Given the description of an element on the screen output the (x, y) to click on. 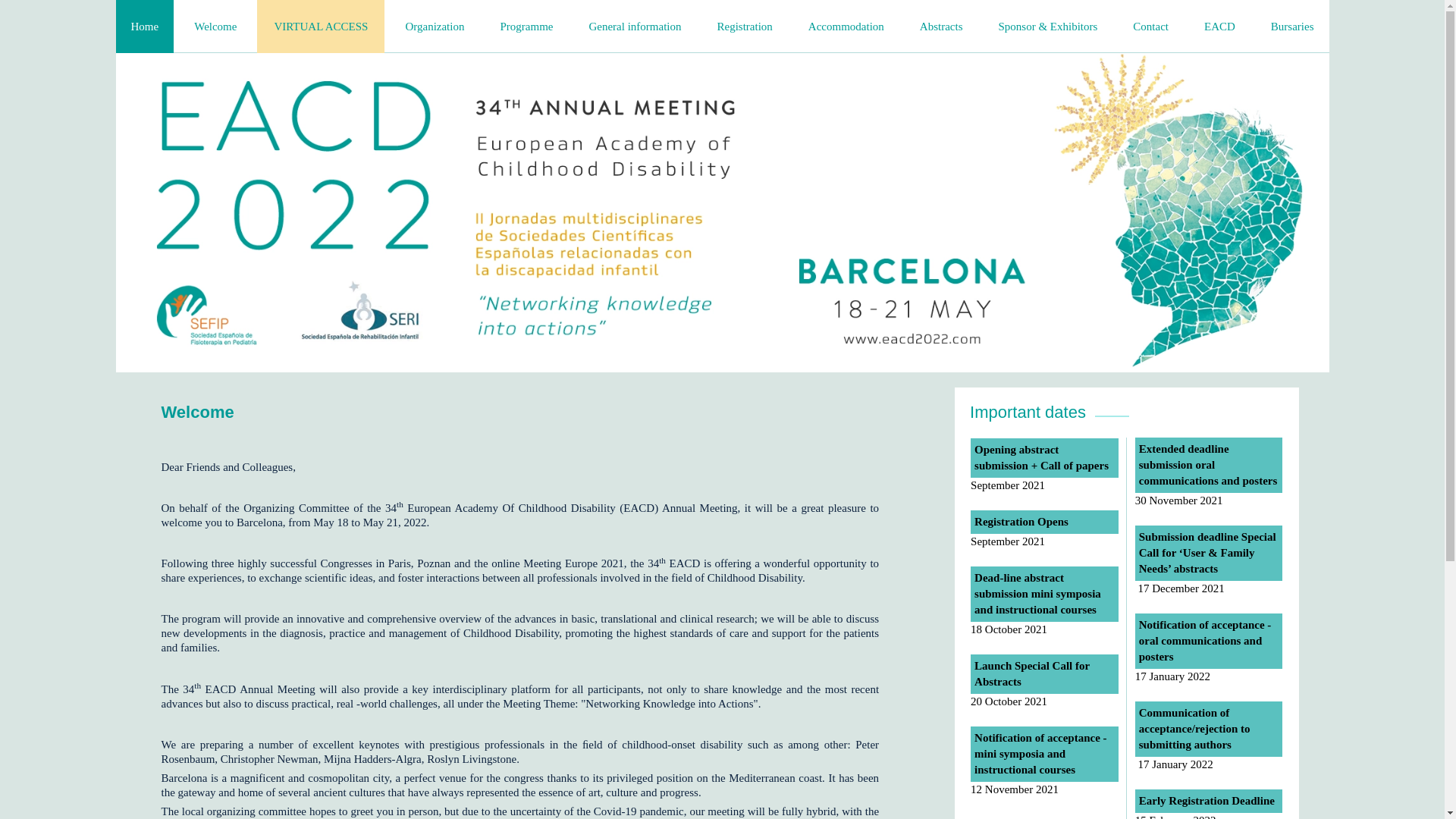
Contact (1150, 26)
Welcome (215, 26)
Organization (434, 26)
Home (144, 26)
Abstracts (941, 26)
EACD (1219, 26)
Programme (525, 26)
VIRTUAL ACCESS (320, 26)
Bursaries (1292, 26)
General information (634, 26)
Accommodation (846, 26)
Registration (744, 26)
